Given the description of an element on the screen output the (x, y) to click on. 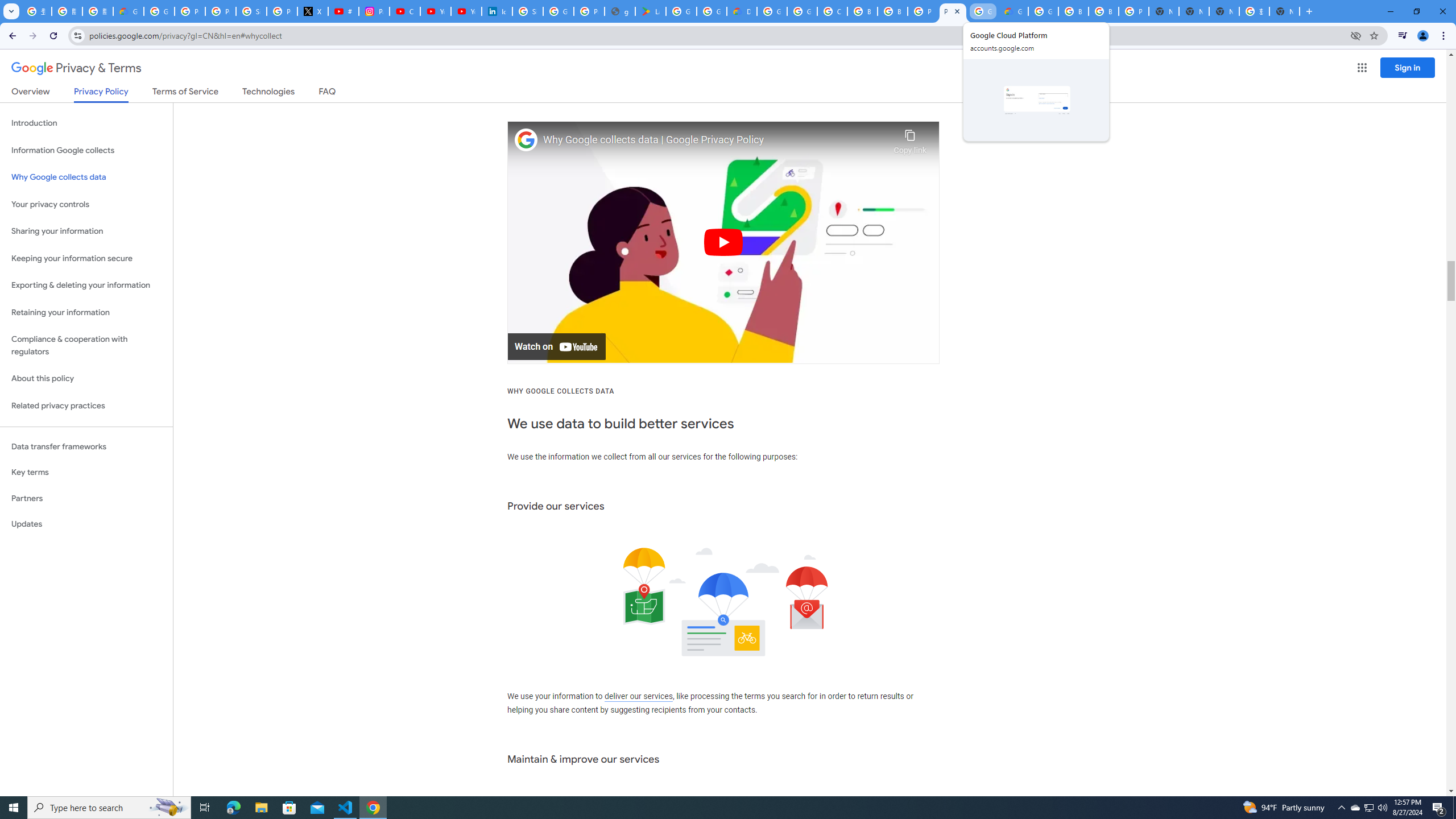
Copy link (909, 139)
Google Cloud Platform (771, 11)
Privacy & Terms (76, 68)
New Tab (1163, 11)
Google Cloud Estimate Summary (1012, 11)
Privacy Help Center - Policies Help (220, 11)
